Given the description of an element on the screen output the (x, y) to click on. 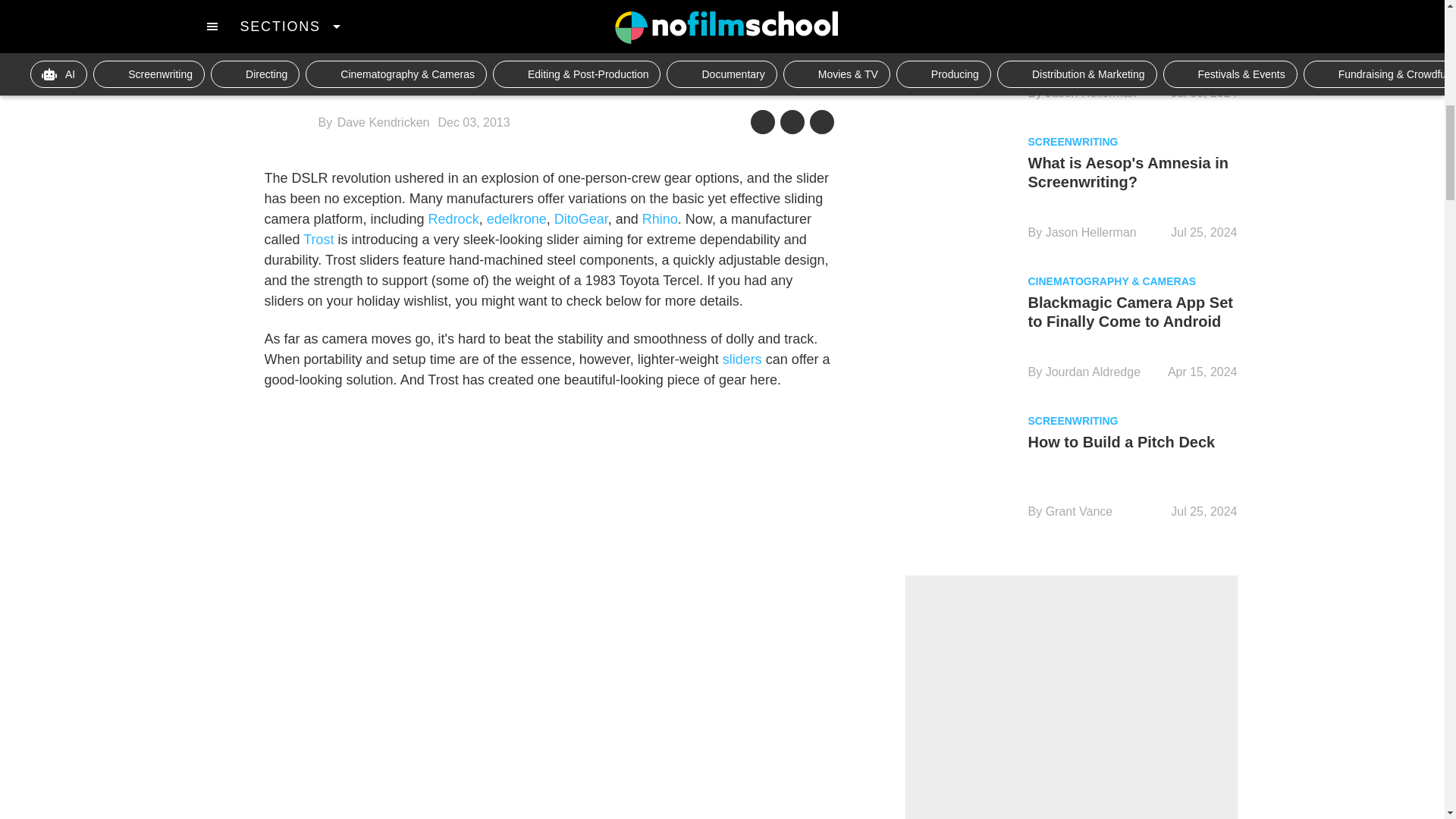
Dave Kendricken (383, 122)
